Given the description of an element on the screen output the (x, y) to click on. 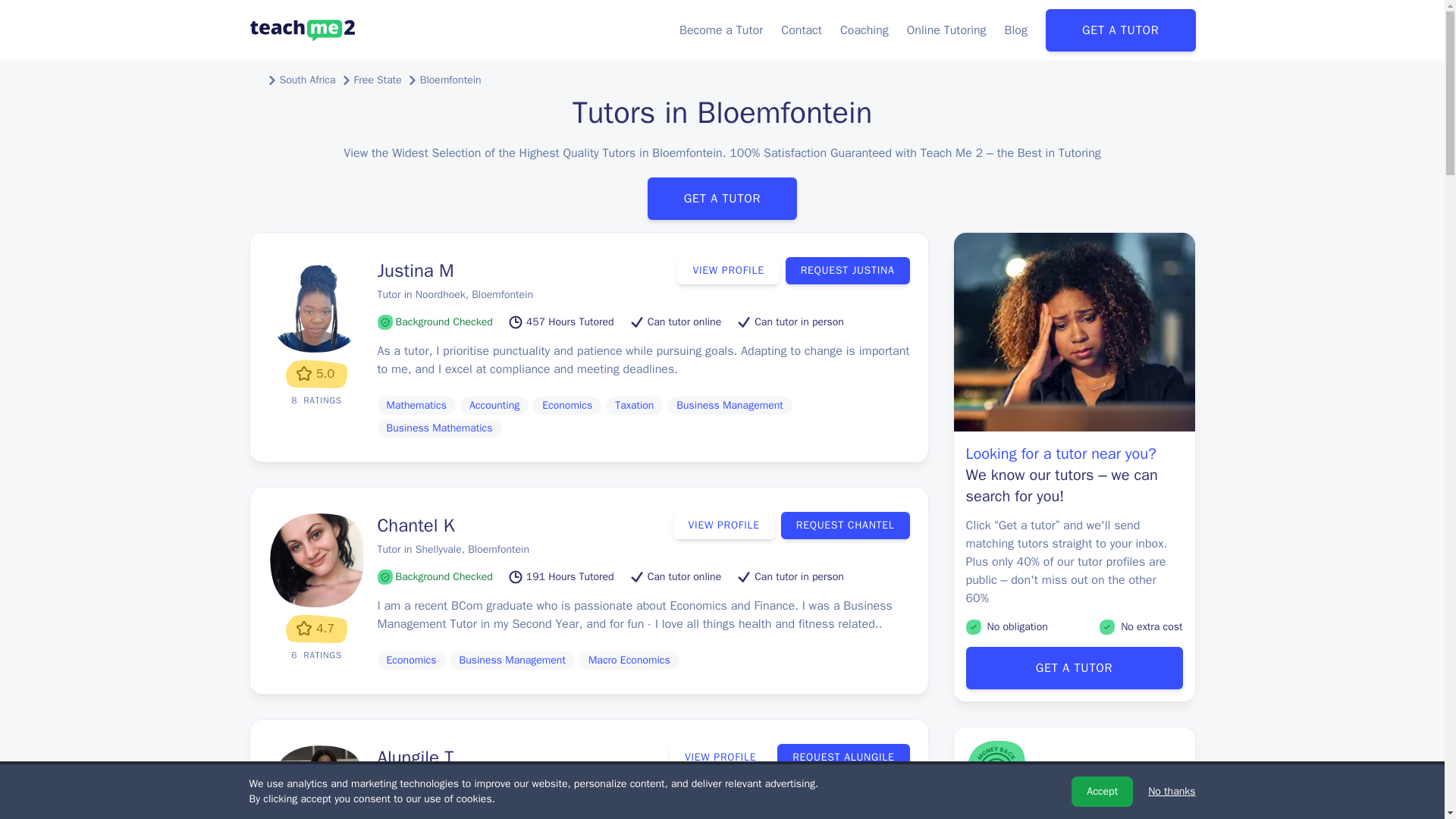
REQUEST JUSTINA (848, 270)
Blog (1015, 29)
Coaching (864, 29)
Jump to the front page (301, 29)
Alungile T (415, 757)
South Africa (306, 79)
Become a Tutor (720, 29)
Free State (377, 79)
GET A TUTOR (1120, 30)
VIEW PROFILE (727, 270)
